Given the description of an element on the screen output the (x, y) to click on. 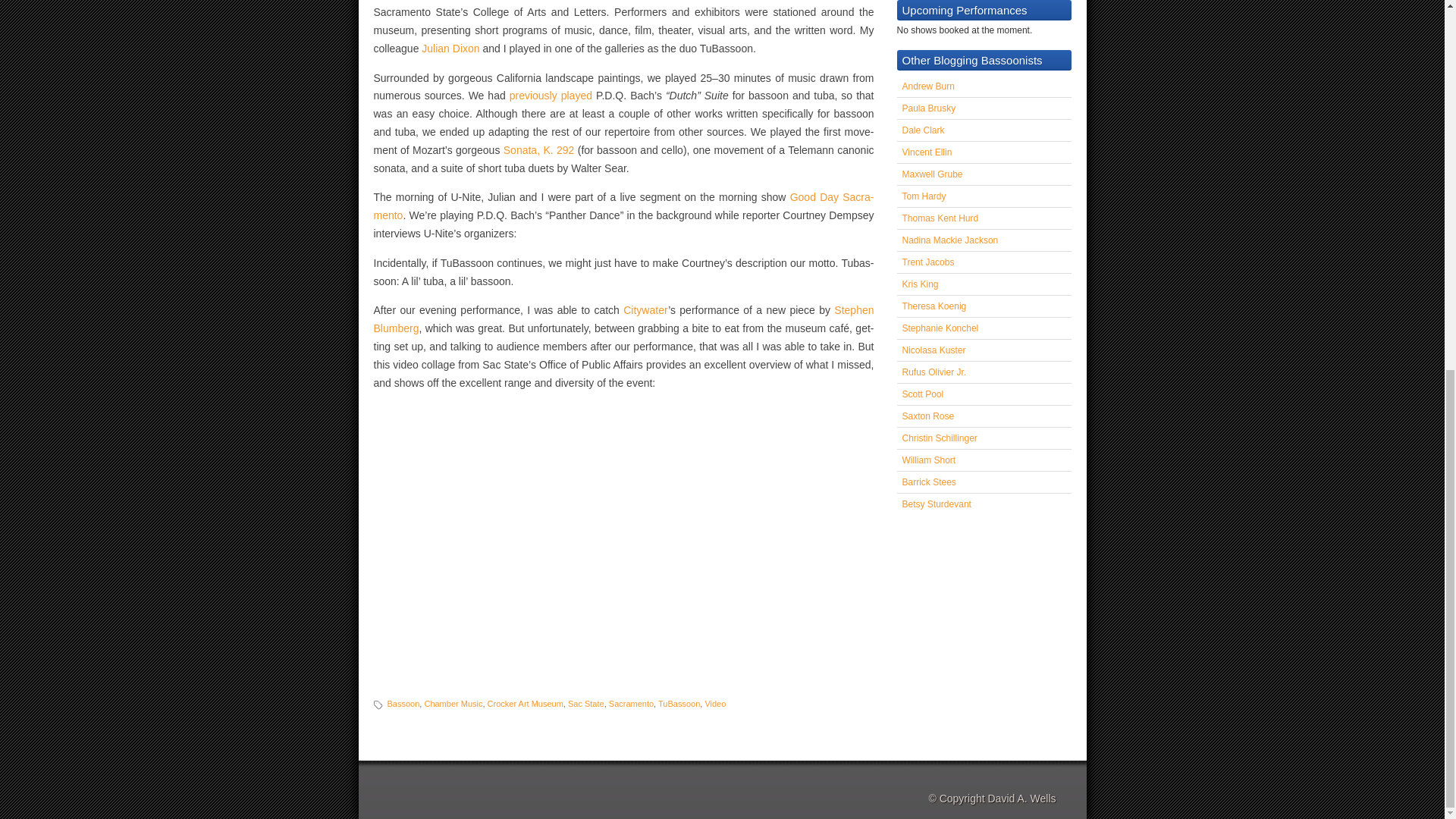
Pacific Bassoons (934, 349)
TuBassoon (679, 703)
Vincent Ellin, bassoonist (927, 152)
Video (714, 703)
Sacramento (630, 703)
The Heckeler (928, 86)
Saxton Rose - Notebook (928, 416)
Basso Vento (932, 173)
Paula Brusky, PhD (929, 108)
Scott Pool (922, 394)
Stephanie Konchel - Blog (940, 327)
Trent's Bassoon Blog (928, 262)
Julian Dixon (450, 48)
Dale Clark's Bassoon Reed Making Blog (923, 130)
Thomas Kent Hurd (940, 217)
